Given the description of an element on the screen output the (x, y) to click on. 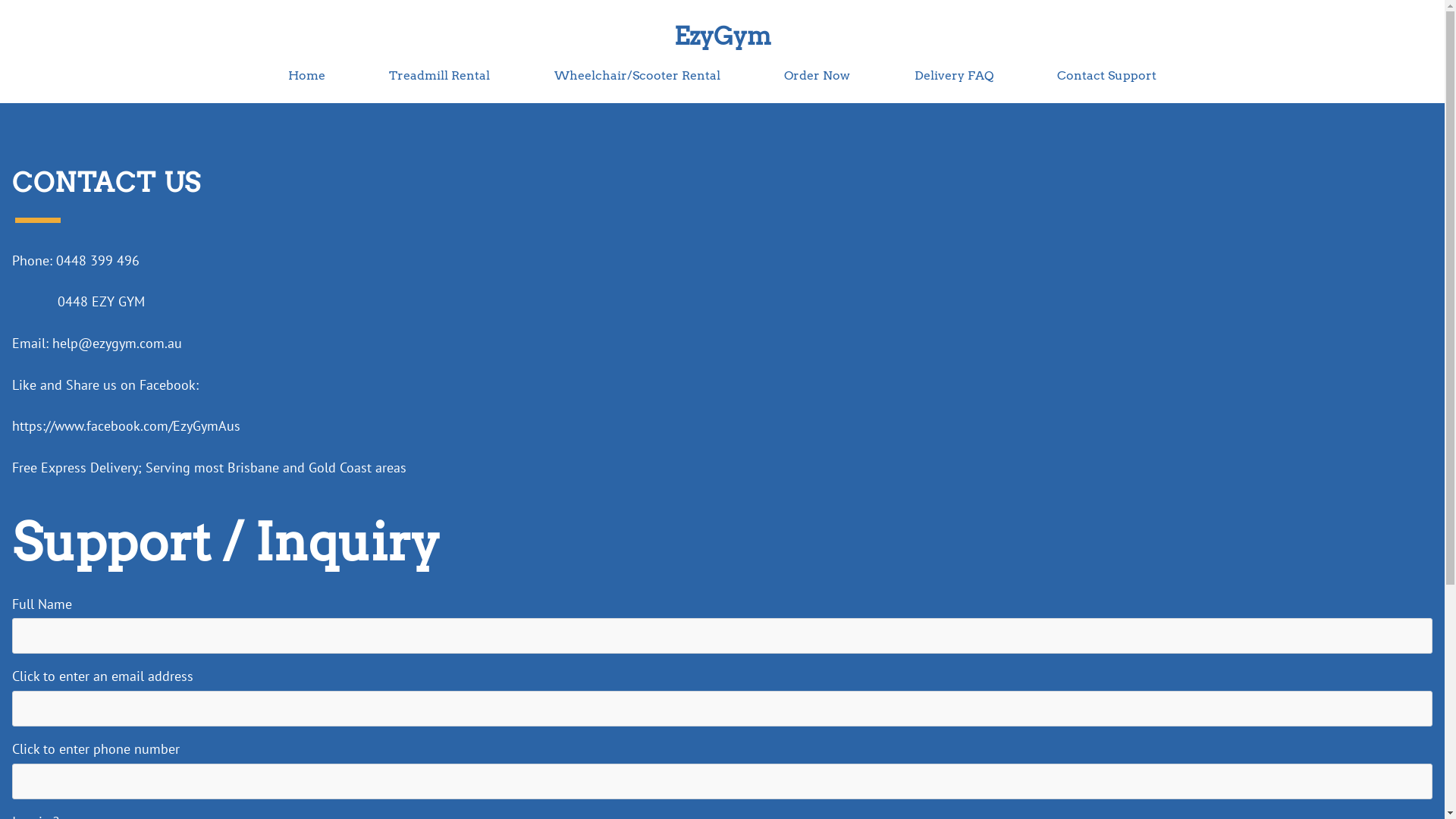
EzyGym Element type: text (721, 35)
Wheelchair/Scooter Rental Element type: text (637, 75)
Delivery FAQ Element type: text (953, 75)
Contact Support Element type: text (1106, 75)
Home Element type: text (306, 75)
https://www.facebook.com/EzyGymAus Element type: text (126, 425)
Treadmill Rental Element type: text (439, 75)
Order Now Element type: text (817, 75)
